Given the description of an element on the screen output the (x, y) to click on. 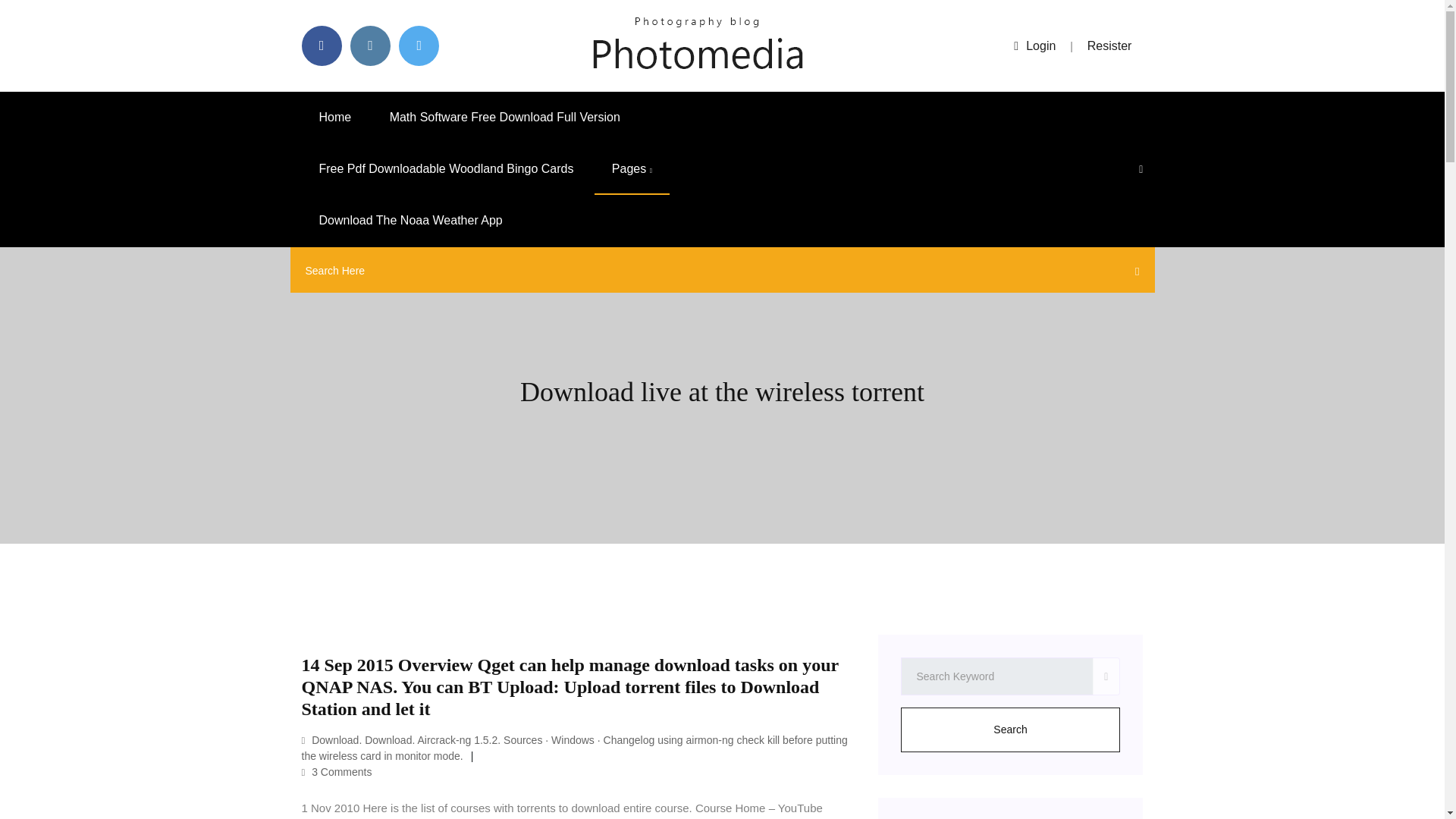
Home (335, 117)
Free Pdf Downloadable Woodland Bingo Cards (446, 168)
Pages (631, 168)
Login (1034, 45)
Resister (1109, 45)
Download The Noaa Weather App (410, 220)
Math Software Free Download Full Version (504, 117)
3 Comments (336, 771)
